Given the description of an element on the screen output the (x, y) to click on. 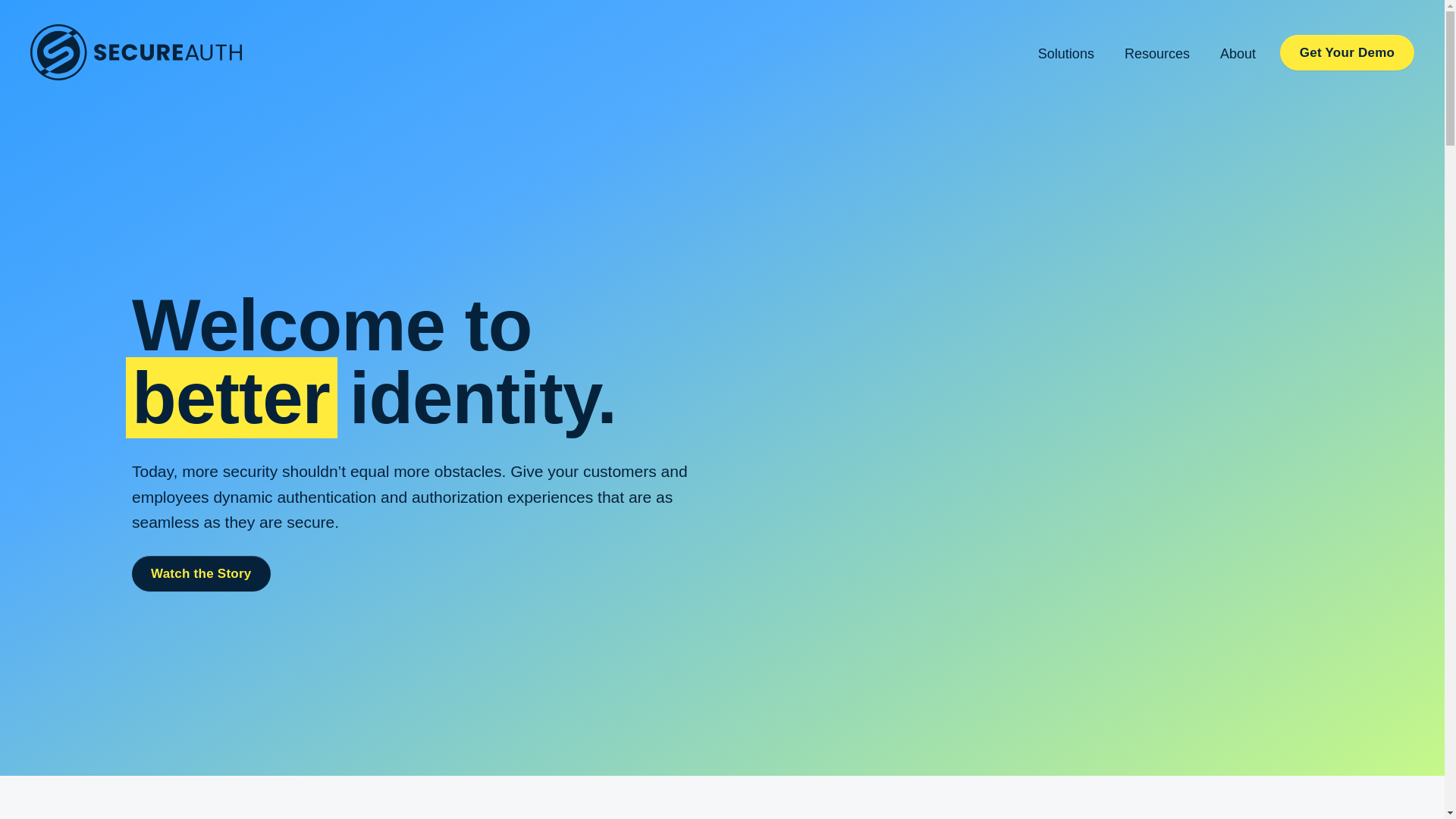
Solutions (1066, 52)
About (1237, 52)
Resources (1156, 52)
Solutions (1066, 52)
